Given the description of an element on the screen output the (x, y) to click on. 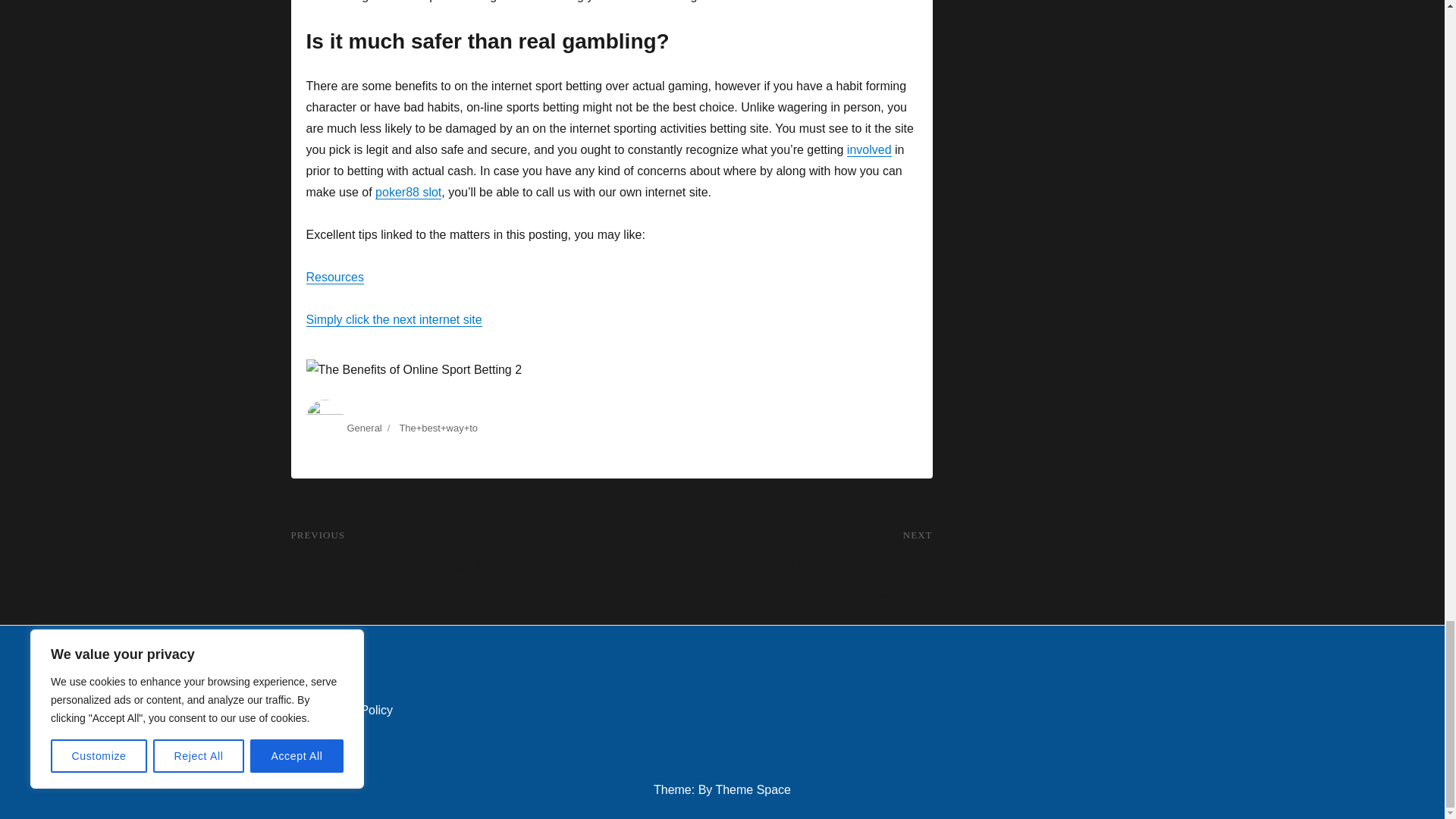
Resources (334, 277)
poker88 slot (408, 192)
Simply click the next internet site (393, 318)
involved (771, 565)
General (869, 149)
